Given the description of an element on the screen output the (x, y) to click on. 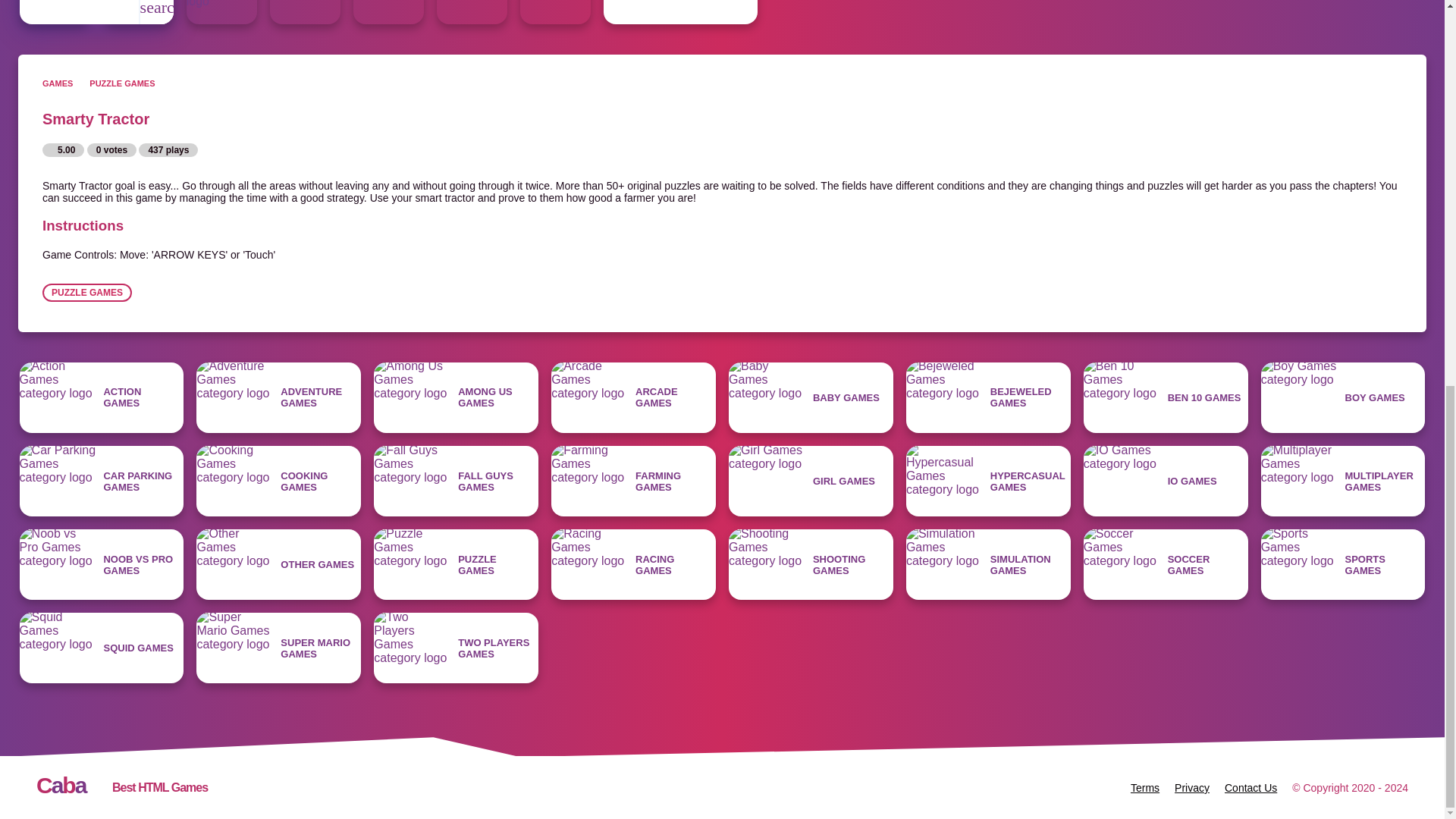
Puzzle Games (680, 11)
